Given the description of an element on the screen output the (x, y) to click on. 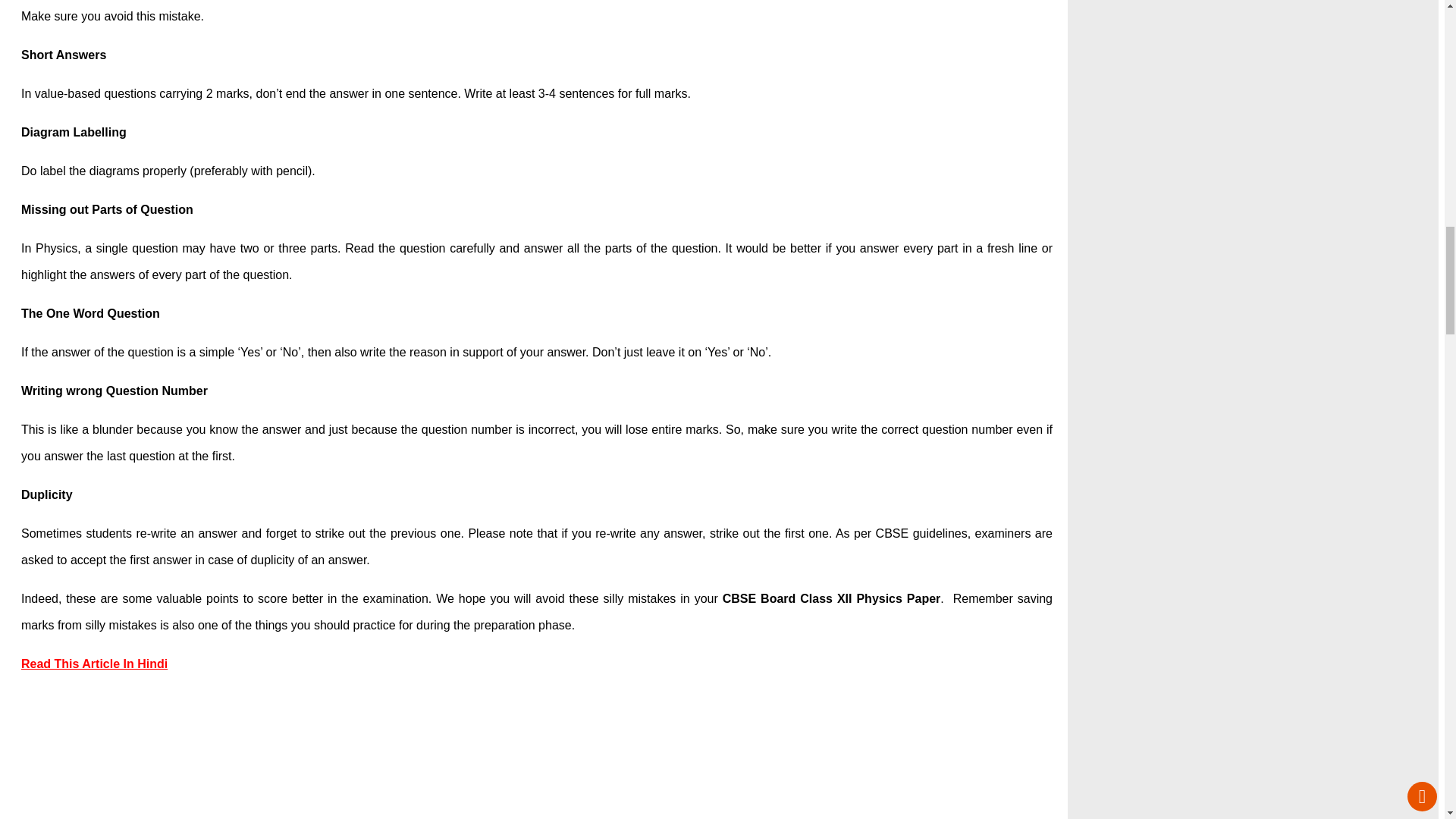
Advertisement (536, 754)
